Given the description of an element on the screen output the (x, y) to click on. 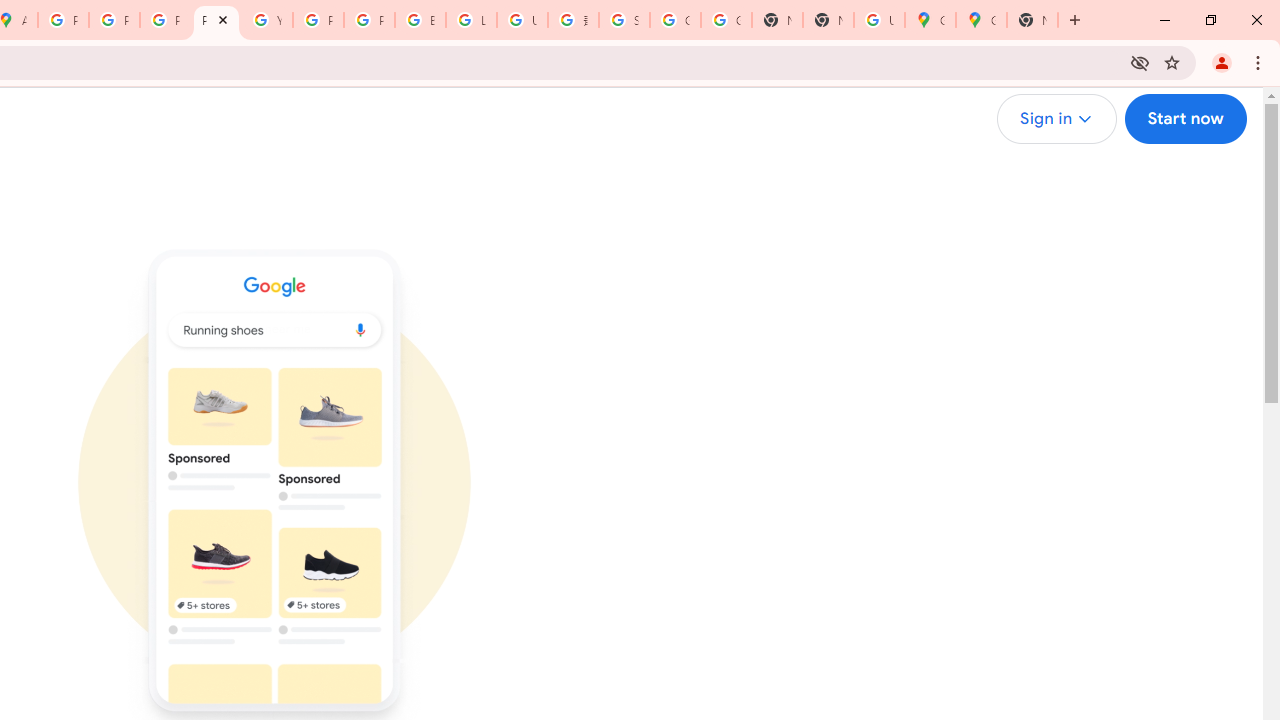
Start now (1184, 119)
Privacy Help Center - Policies Help (164, 20)
Sign in - Google Accounts (624, 20)
Google Maps (981, 20)
New Tab (1032, 20)
YouTube (267, 20)
